Given the description of an element on the screen output the (x, y) to click on. 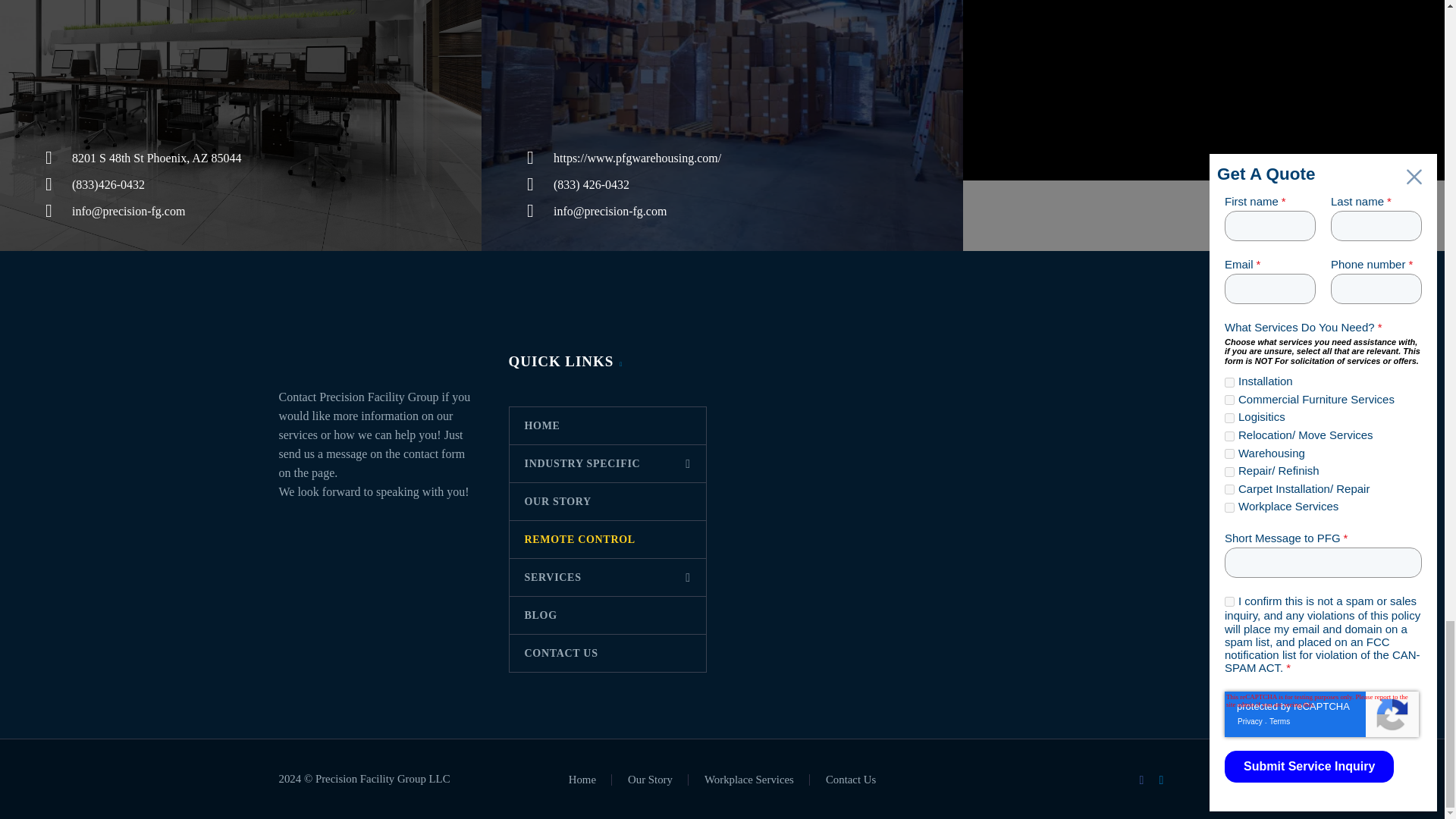
REMOTE CONTROL (607, 538)
OUR STORY (607, 501)
speaking with you (419, 491)
Our Story (649, 779)
HOME (607, 425)
BLOG (607, 615)
INDUSTRY SPECIFIC (607, 463)
SERVICES (607, 577)
LinkedIn (1161, 779)
Facebook (1141, 779)
CONTACT US (607, 652)
Home (582, 779)
